Given the description of an element on the screen output the (x, y) to click on. 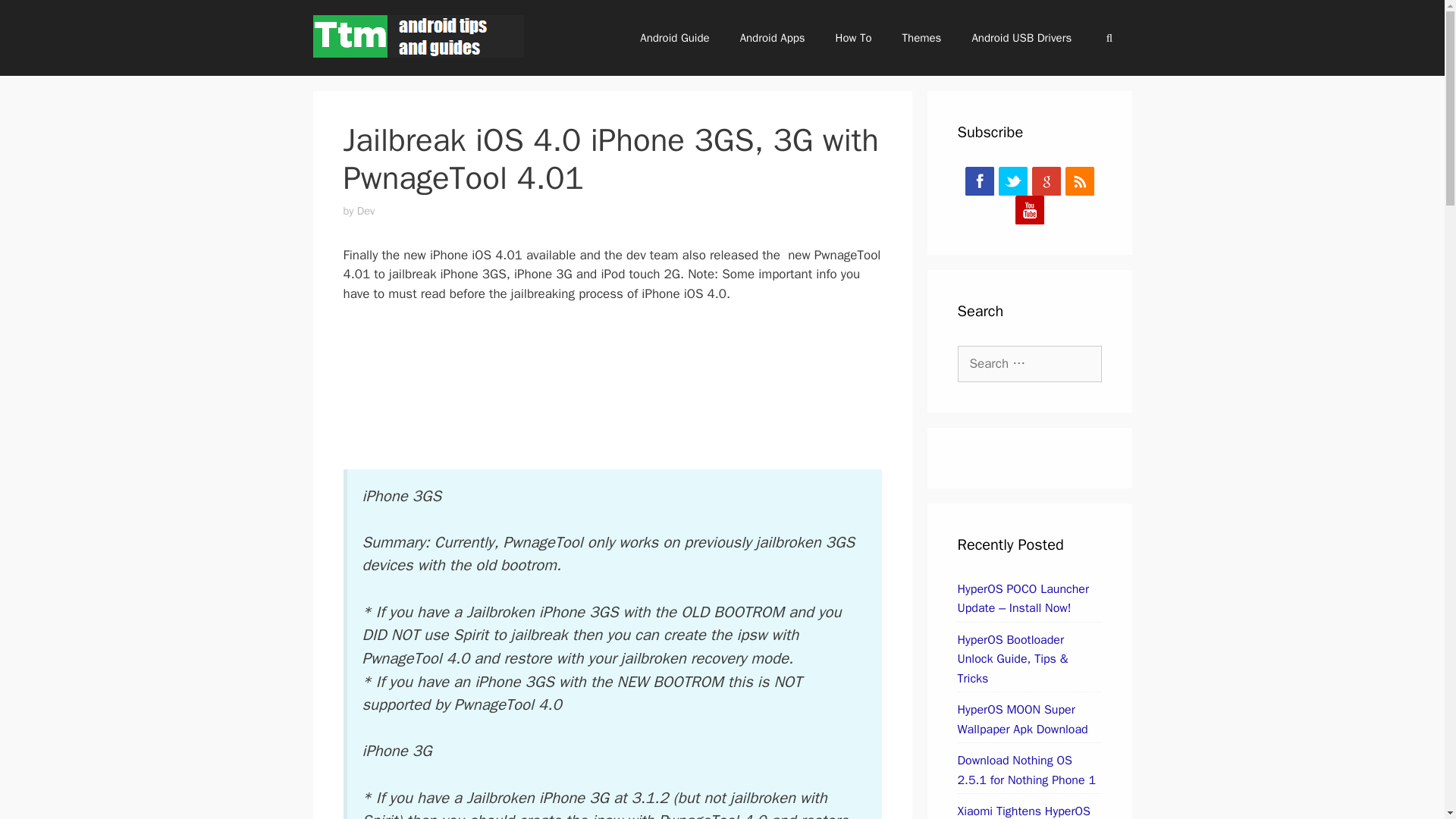
Advertisement (623, 392)
Follow via Twitter (1012, 181)
Android USB Drivers (1021, 37)
Follow via RSS (1079, 181)
View all posts by Dev (365, 210)
Follow us On Youtube (1028, 209)
Follow via Facebook (979, 181)
How To (853, 37)
Android Guide (673, 37)
Dev (365, 210)
Themes (921, 37)
Android Apps (773, 37)
